Given the description of an element on the screen output the (x, y) to click on. 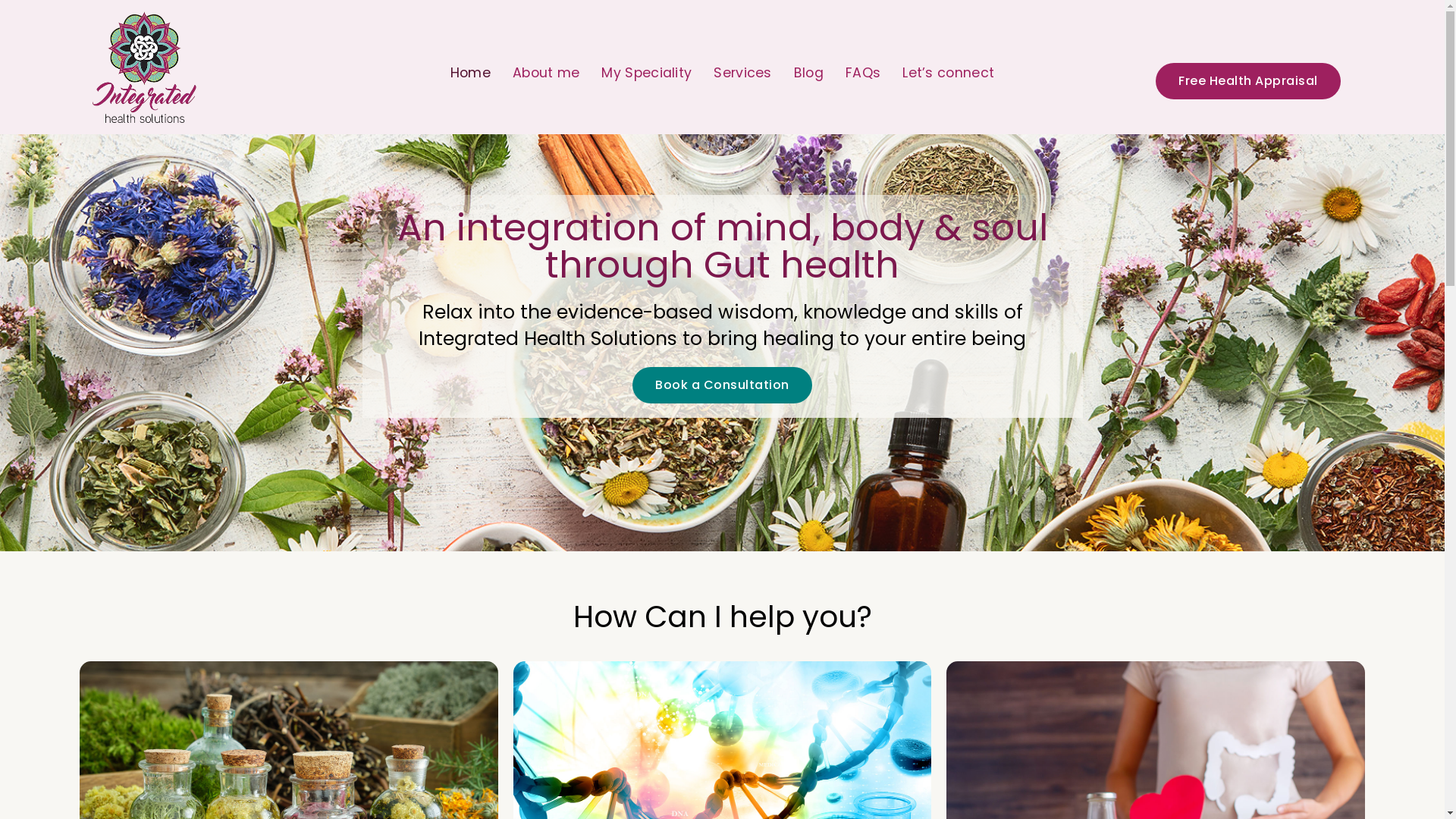
My Speciality Element type: text (646, 72)
Free Health Appraisal Element type: text (1247, 80)
About me Element type: text (545, 72)
Services Element type: text (742, 72)
FAQs Element type: text (862, 72)
Blog Element type: text (808, 72)
Book a Consultation Element type: text (722, 385)
Home Element type: text (470, 72)
